Given the description of an element on the screen output the (x, y) to click on. 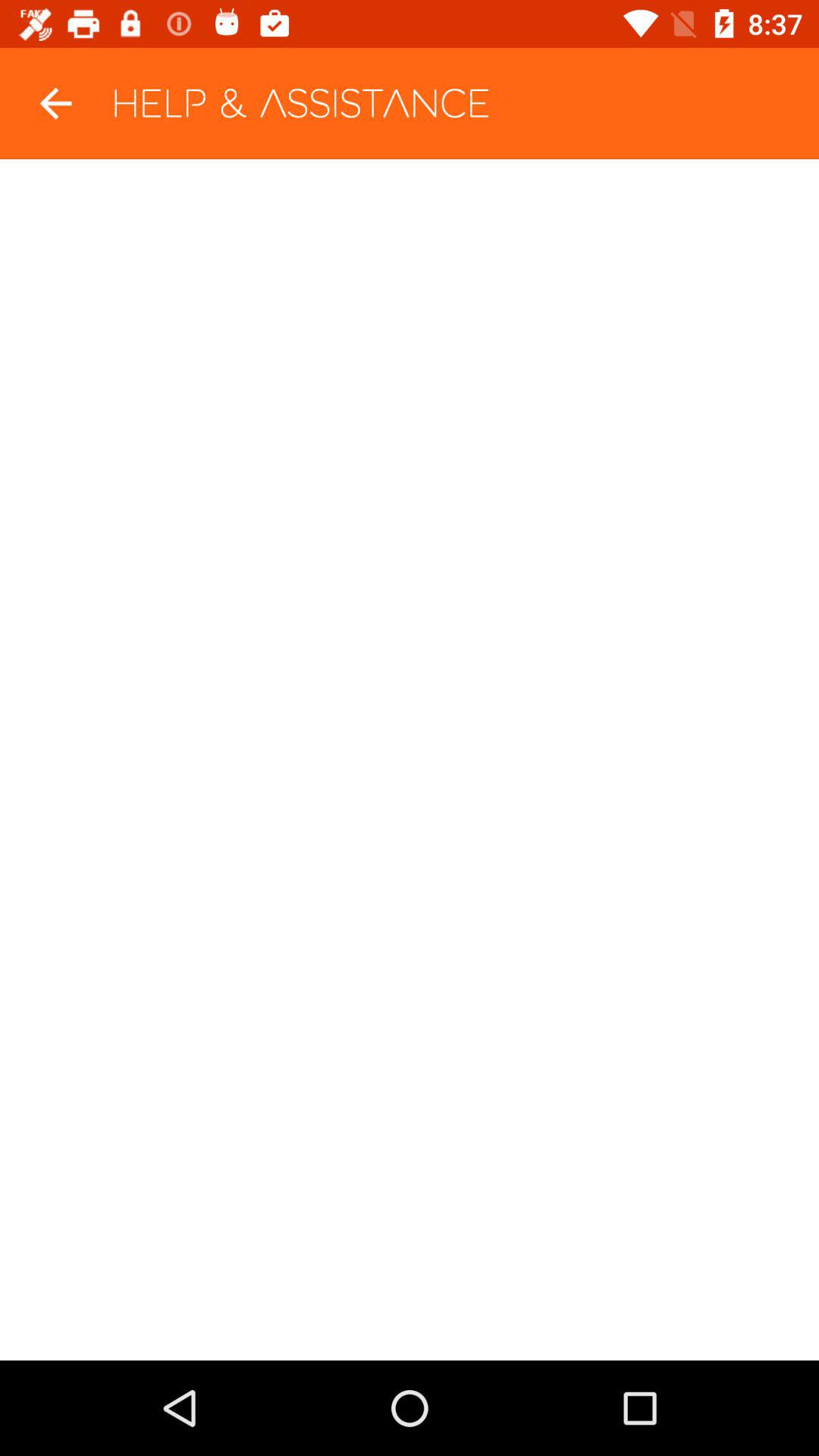
go back (55, 103)
